Given the description of an element on the screen output the (x, y) to click on. 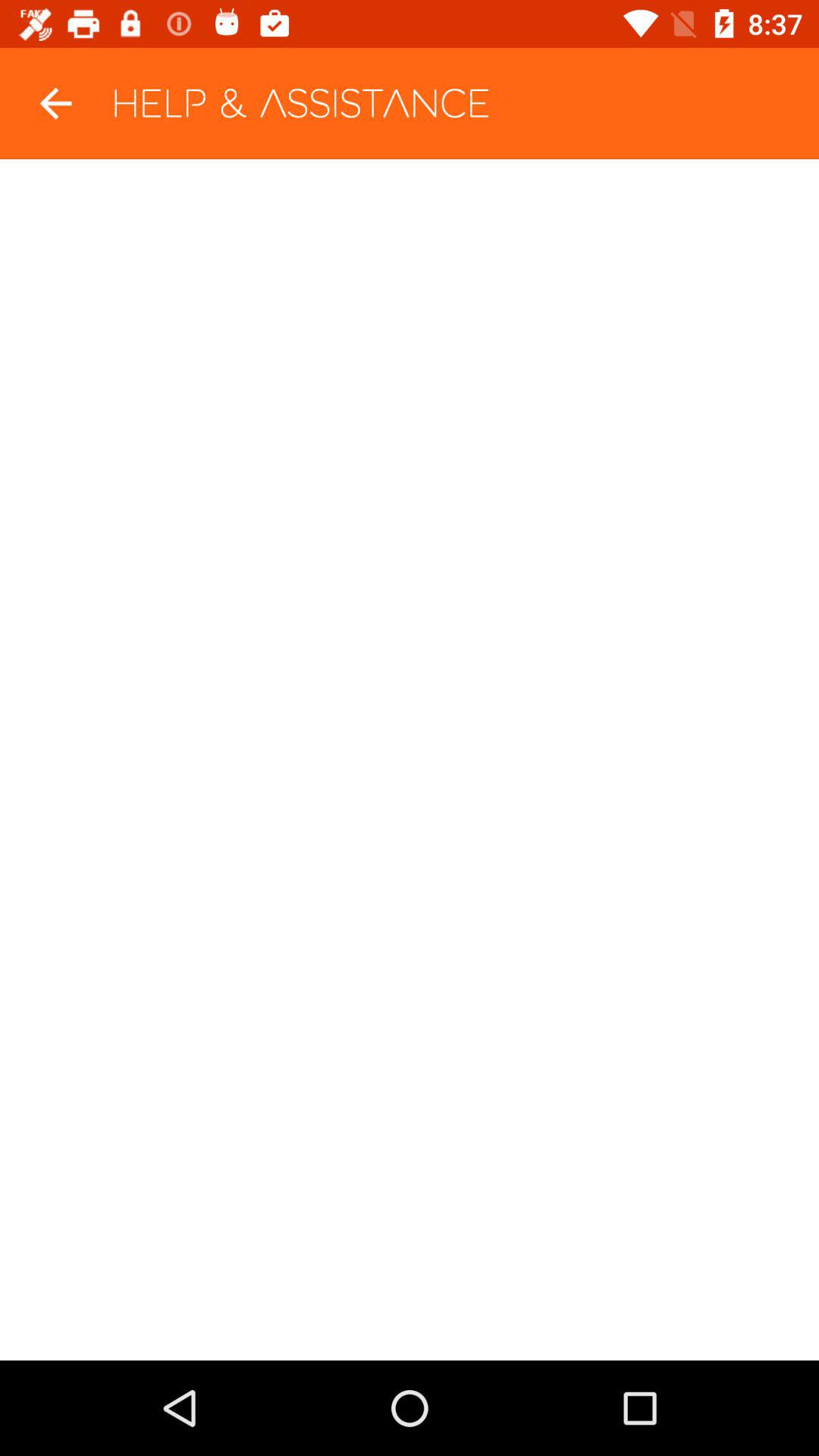
go back (55, 103)
